Given the description of an element on the screen output the (x, y) to click on. 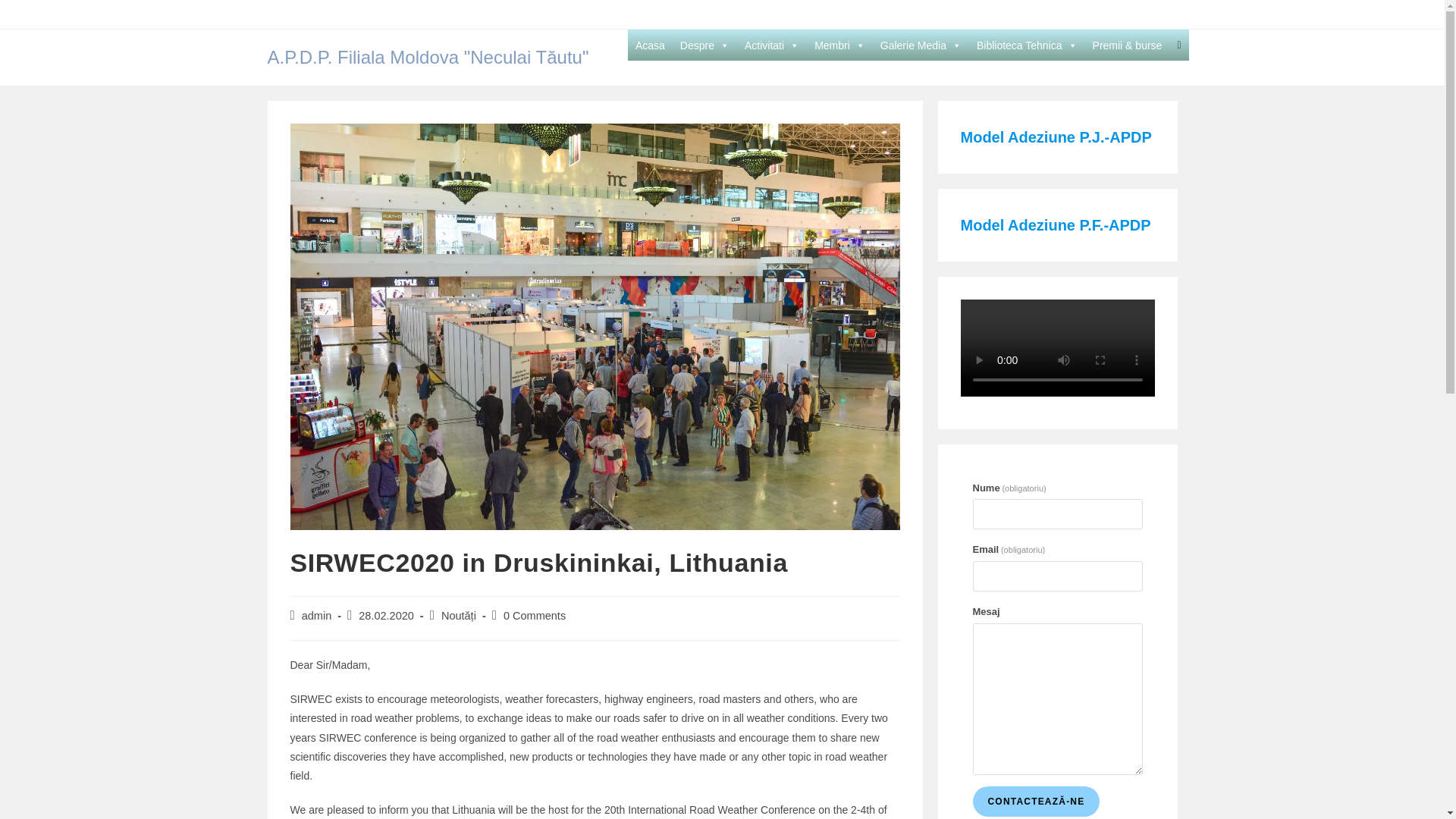
Biblioteca Tehnica (1026, 45)
Acasa (649, 45)
Galerie Media (920, 45)
Articole de admin (316, 615)
Membri (839, 45)
Despre (704, 45)
Toggle website search (1178, 44)
Activitati (771, 45)
0 Comments (534, 615)
admin (316, 615)
